Given the description of an element on the screen output the (x, y) to click on. 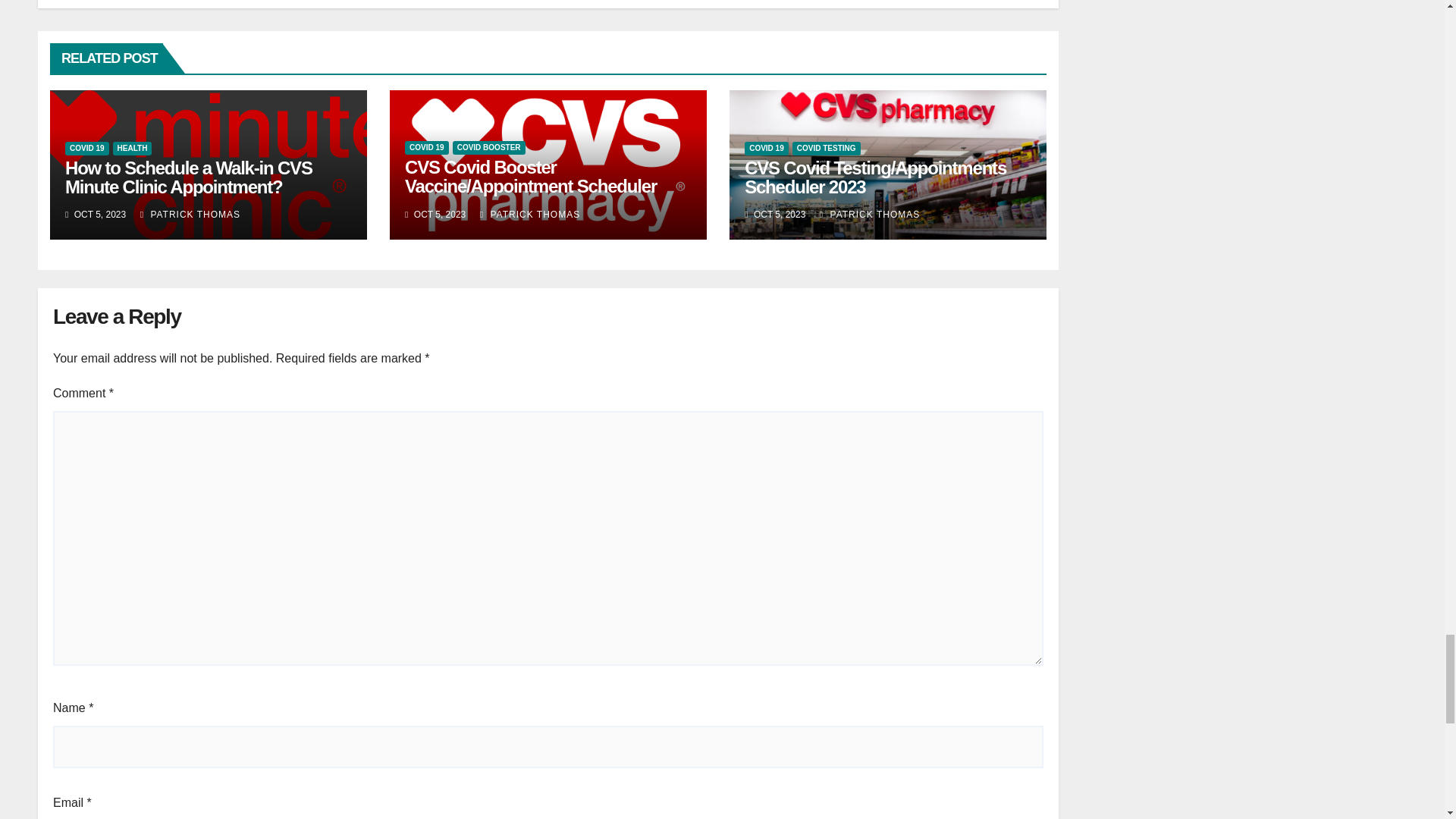
How to Schedule a Walk-in CVS Minute Clinic Appointment? (189, 177)
HEALTH (132, 148)
COVID 19 (87, 148)
